Given the description of an element on the screen output the (x, y) to click on. 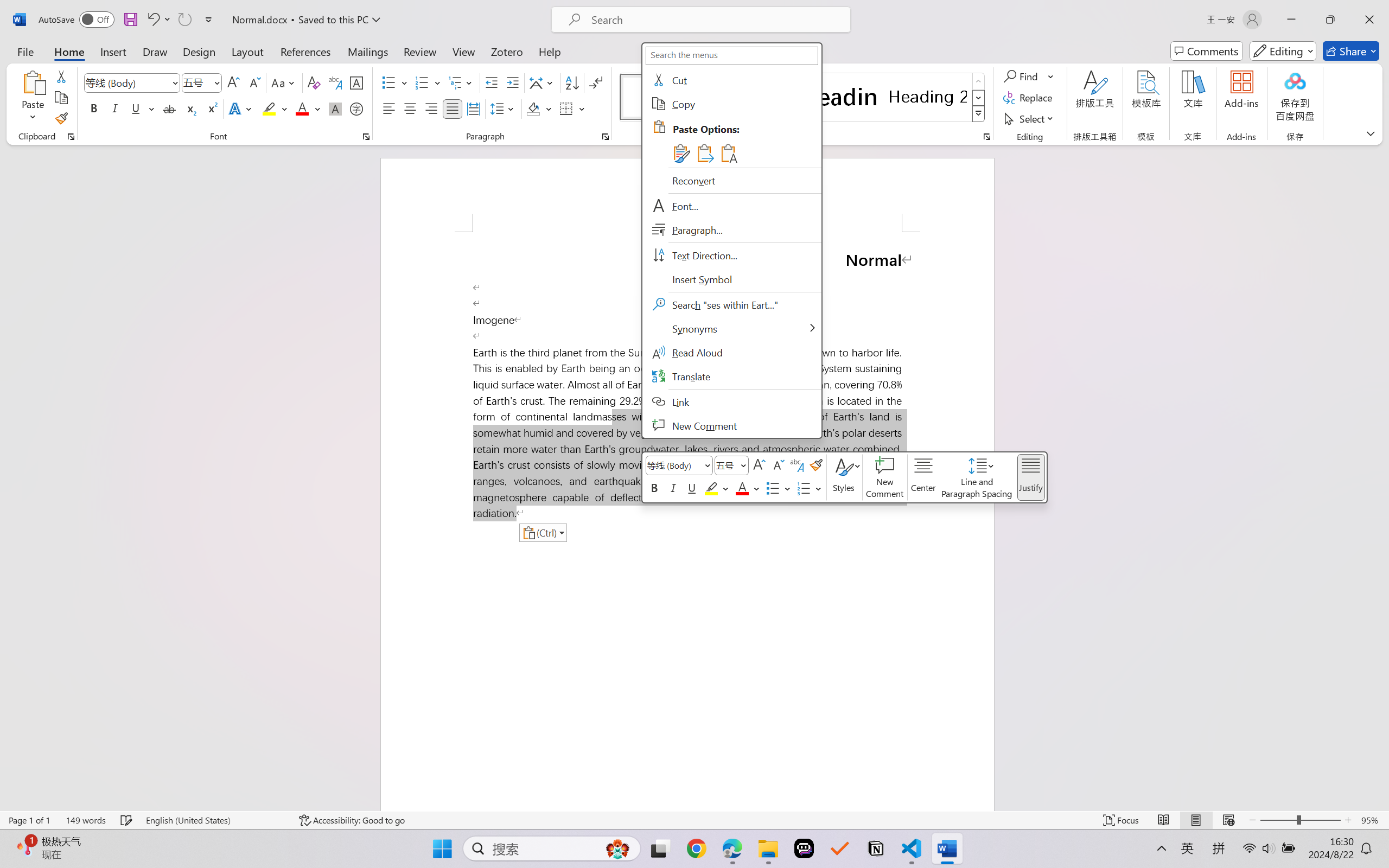
Subscript (190, 108)
Font... (730, 205)
Align Left (388, 108)
Enclose Characters... (356, 108)
Heading 2 (927, 96)
Help (549, 51)
